Given the description of an element on the screen output the (x, y) to click on. 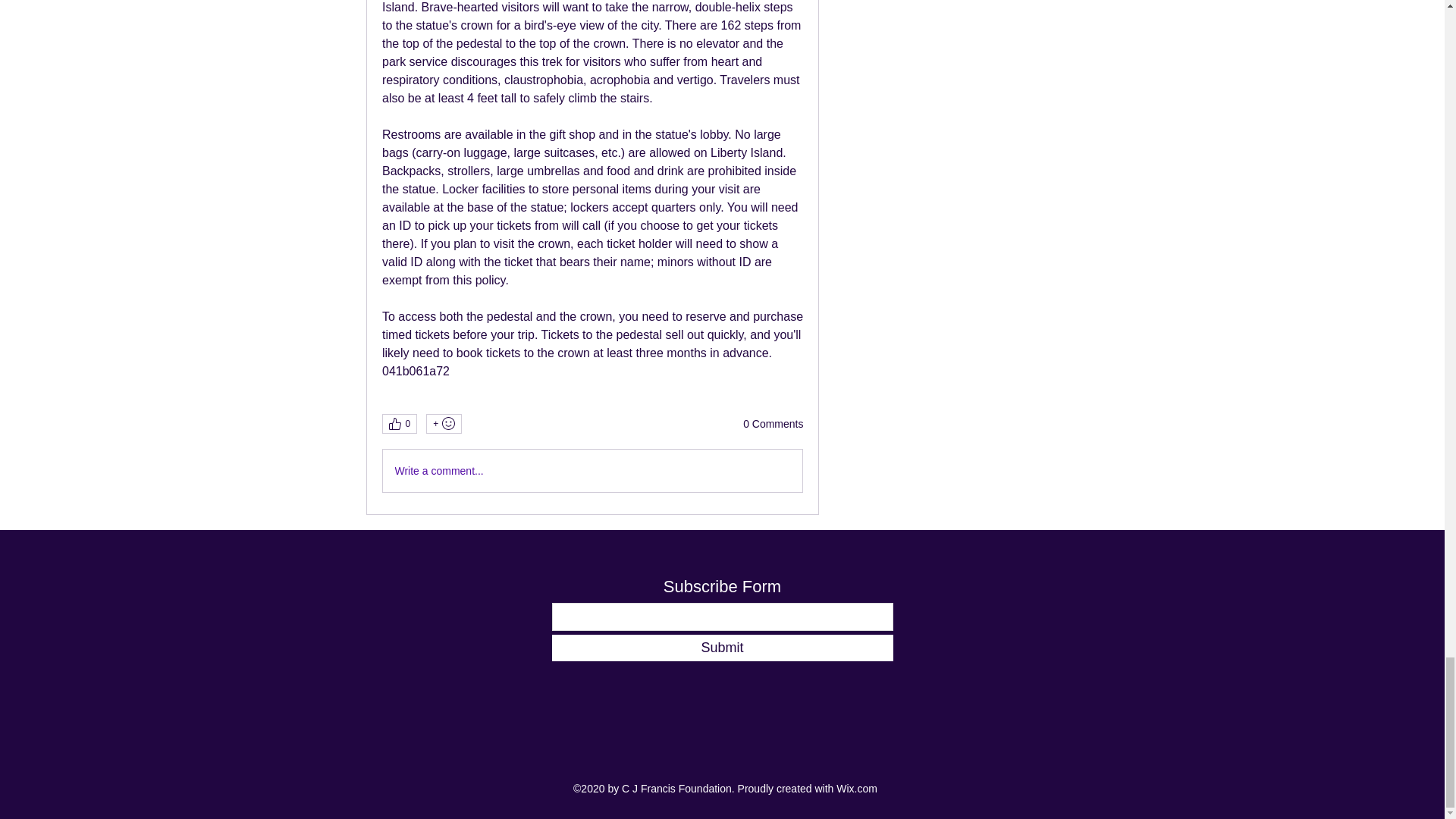
Submit (722, 647)
0 Comments (772, 424)
Write a comment... (591, 470)
